Given the description of an element on the screen output the (x, y) to click on. 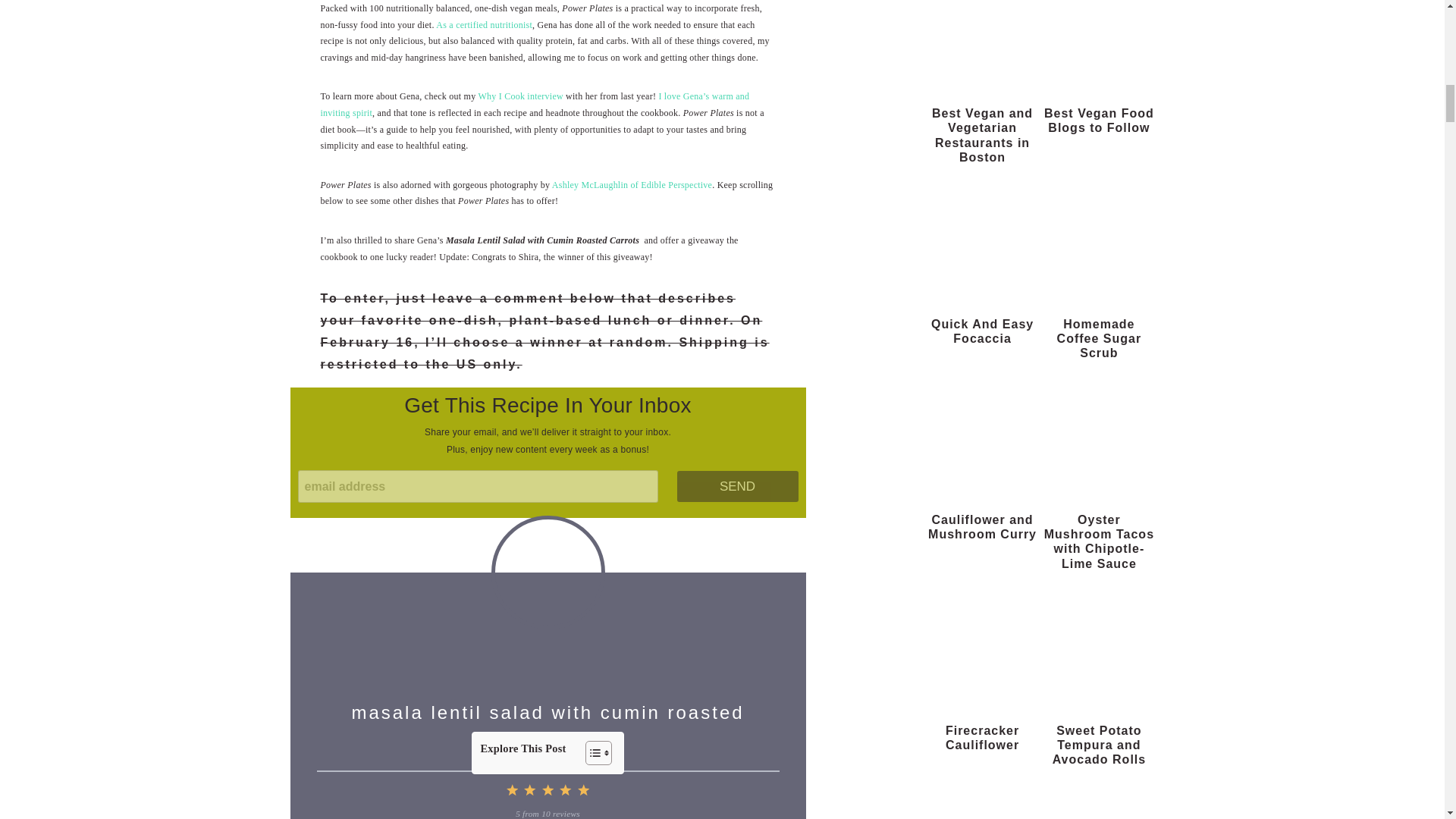
Homemade Coffee Sugar Scrub (1098, 241)
SEND (737, 486)
Ashley McLaughlin of Edible Perspective (631, 184)
Best Vegan and Vegetarian Restaurants in Boston (981, 44)
Vegan Lobster Roll (981, 802)
Best Vegan Food Blogs to Follow (1098, 44)
As a certified nutritionist (483, 24)
Firecracker Cauliflower (981, 647)
Cauliflower and Mushroom Curry (981, 437)
Oyster Mushroom Tacos with Chipotle-Lime Sauce (1098, 437)
